Given the description of an element on the screen output the (x, y) to click on. 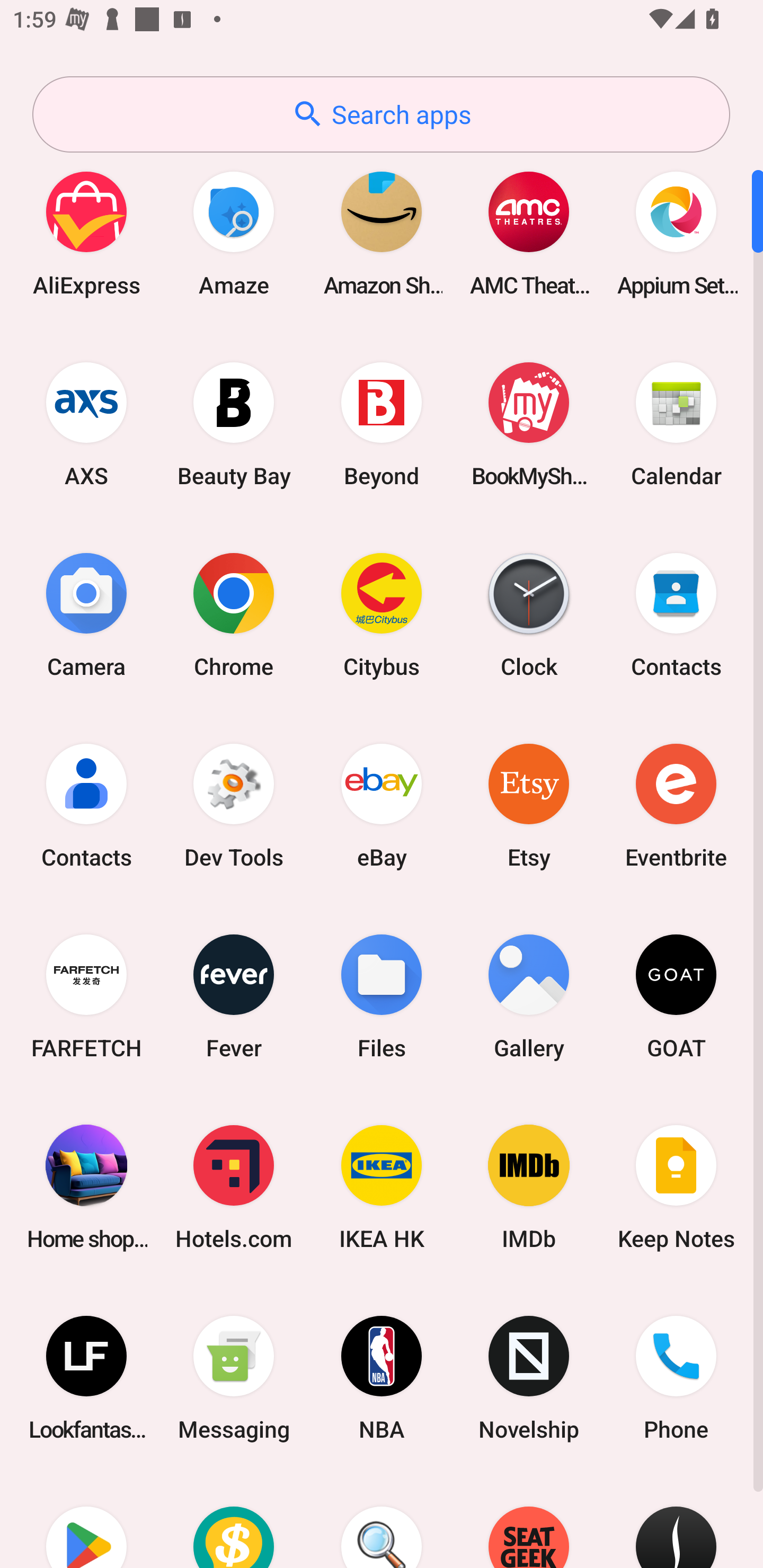
  Search apps (381, 114)
AliExpress (86, 233)
Amaze (233, 233)
Amazon Shopping (381, 233)
AMC Theatres (528, 233)
Appium Settings (676, 233)
AXS (86, 424)
Beauty Bay (233, 424)
Beyond (381, 424)
BookMyShow (528, 424)
Calendar (676, 424)
Camera (86, 614)
Chrome (233, 614)
Citybus (381, 614)
Clock (528, 614)
Contacts (676, 614)
Contacts (86, 805)
Dev Tools (233, 805)
eBay (381, 805)
Etsy (528, 805)
Eventbrite (676, 805)
FARFETCH (86, 996)
Fever (233, 996)
Files (381, 996)
Gallery (528, 996)
GOAT (676, 996)
Home shopping (86, 1186)
Hotels.com (233, 1186)
IKEA HK (381, 1186)
IMDb (528, 1186)
Keep Notes (676, 1186)
Lookfantastic (86, 1377)
Messaging (233, 1377)
NBA (381, 1377)
Novelship (528, 1377)
Phone (676, 1377)
